Given the description of an element on the screen output the (x, y) to click on. 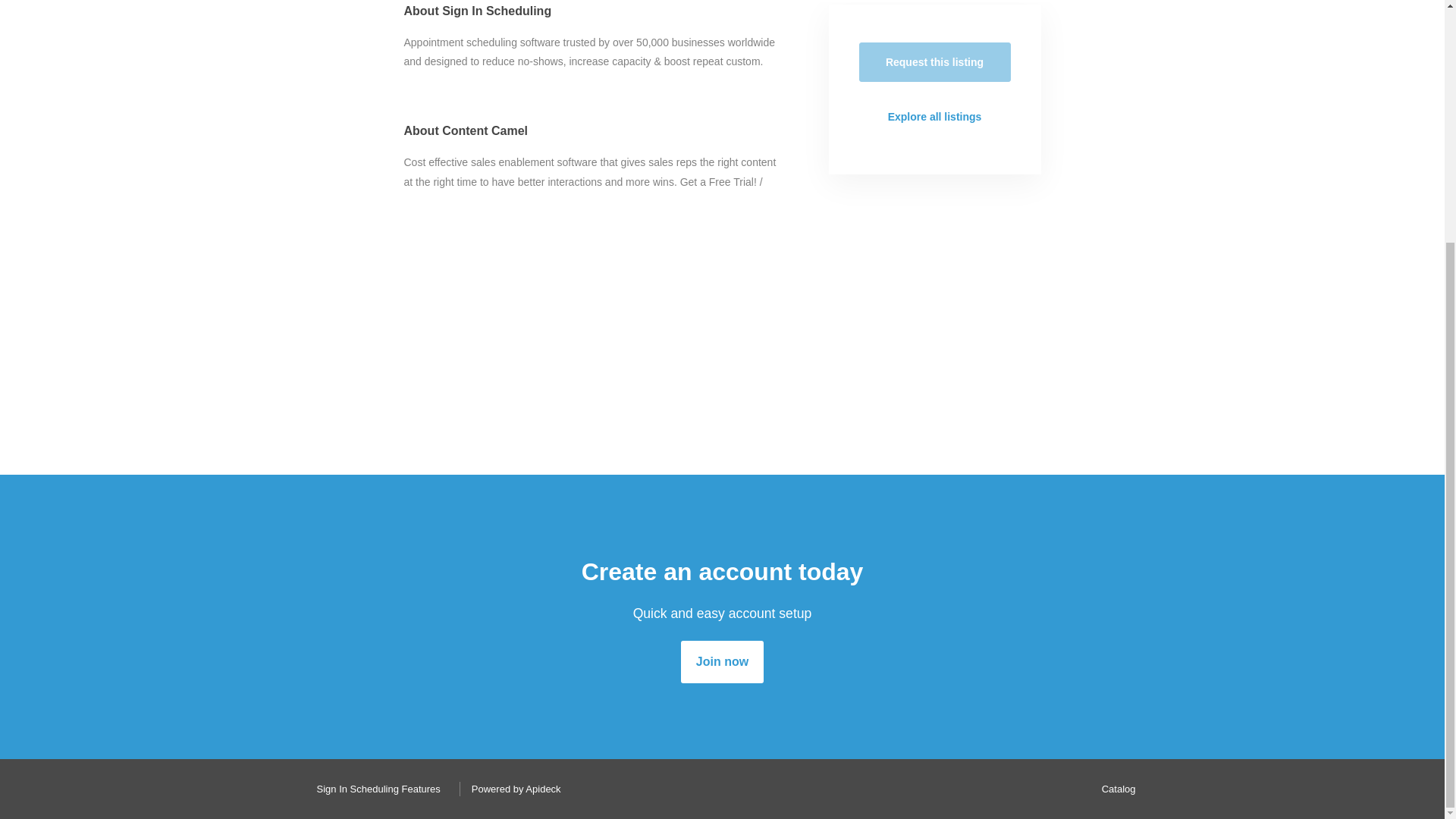
Request this listing (934, 61)
Catalog (1115, 789)
Join now (721, 661)
Sign In Scheduling Features (374, 789)
Powered by Apideck (512, 789)
Explore all listings (934, 116)
